Given the description of an element on the screen output the (x, y) to click on. 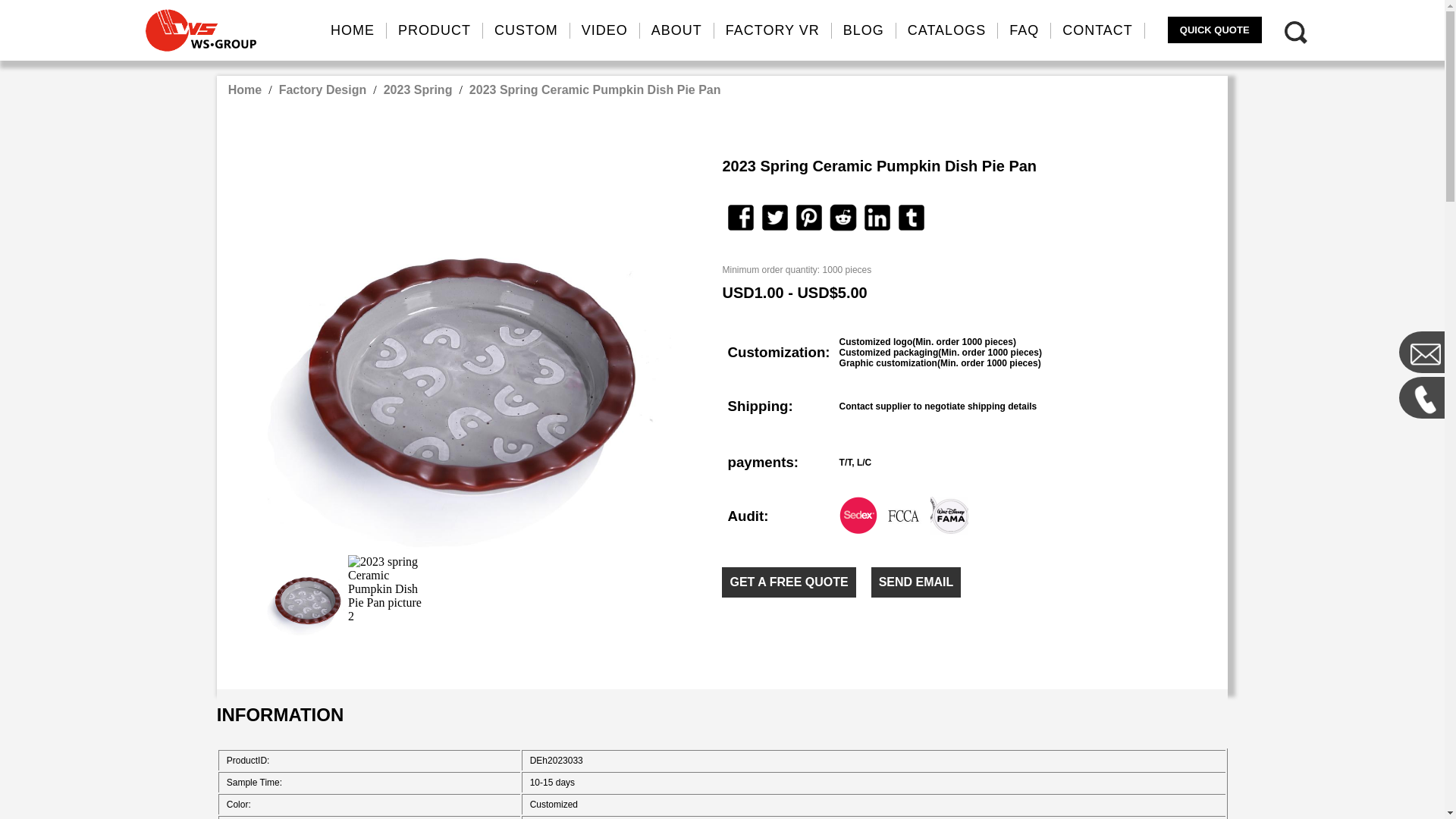
BLOG (863, 30)
HOME (352, 30)
Home (244, 89)
QUICK QUOTE (1214, 29)
ABOUT (677, 30)
FAQ (1024, 30)
2023 Spring Ceramic Pumpkin Dish Pie Pan (595, 89)
2023 Spring (418, 89)
FACTORY VR (772, 30)
VIDEO (605, 30)
